Given the description of an element on the screen output the (x, y) to click on. 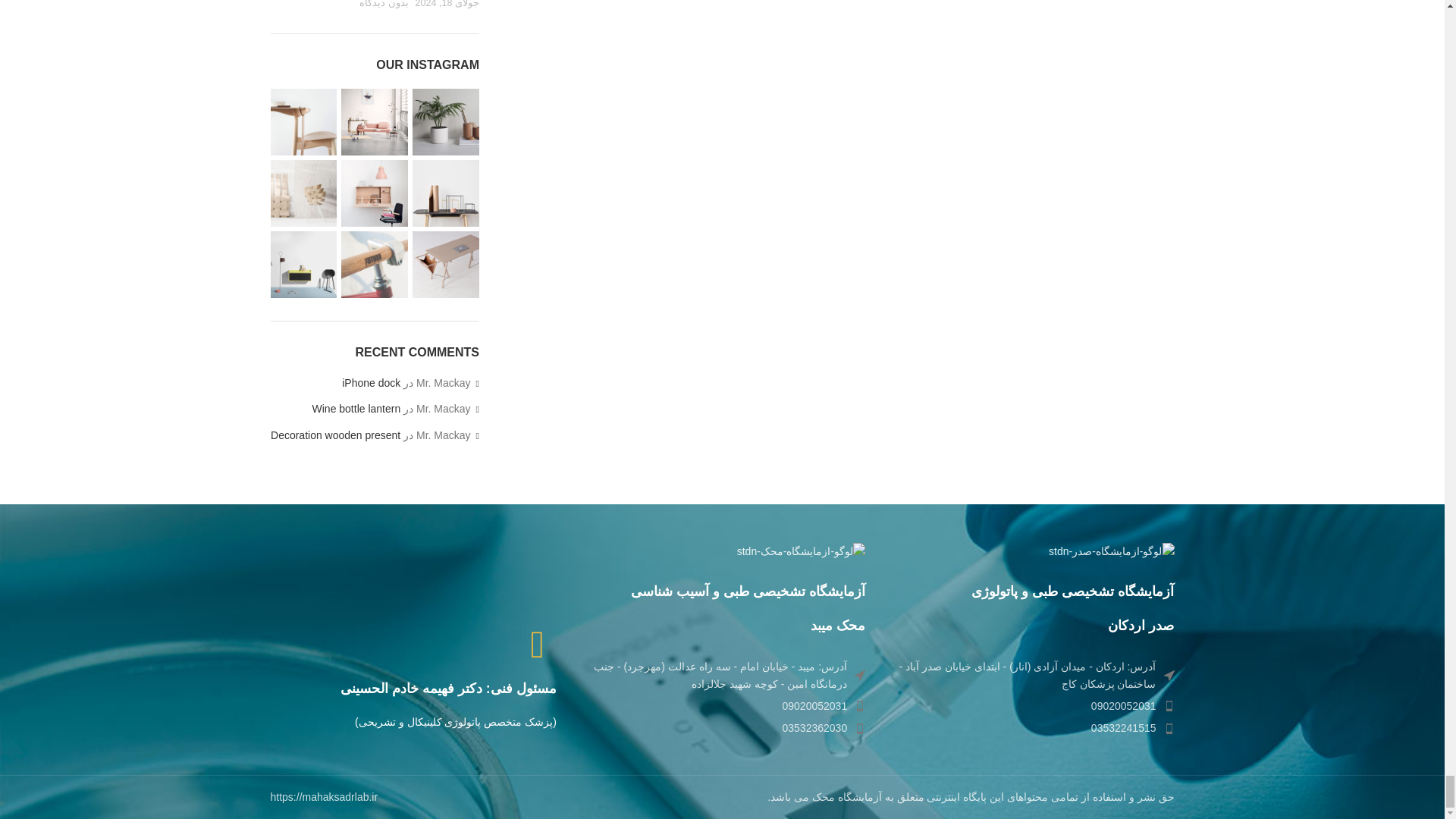
wd-cursor-dark (1168, 675)
wd-phone-dark (859, 706)
wd-phone-dark (859, 728)
wd-phone-dark (1168, 706)
wd-phone-dark (1168, 728)
wd-cursor-dark (859, 675)
